Given the description of an element on the screen output the (x, y) to click on. 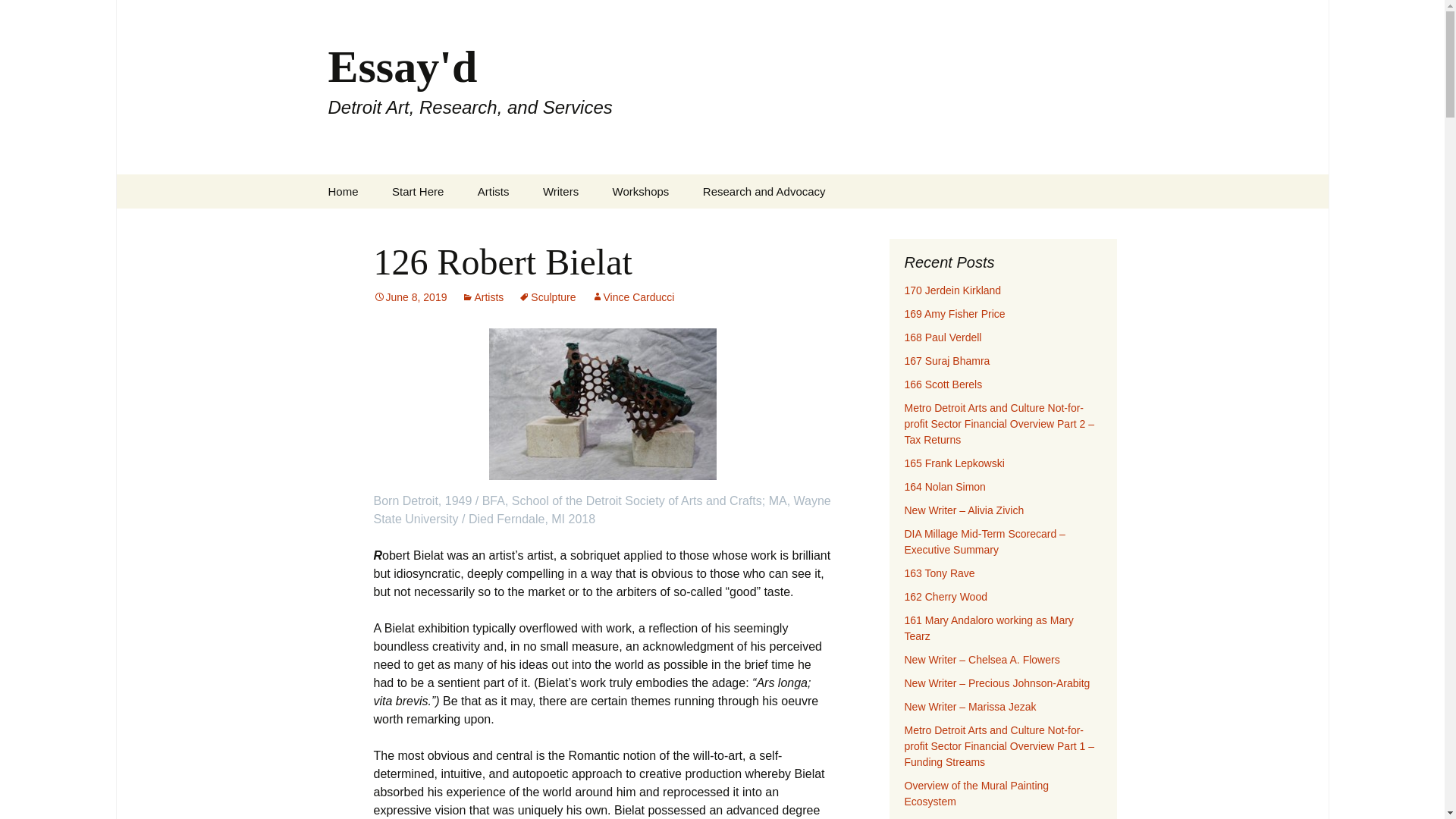
Workshops (640, 191)
Sculpture (546, 297)
Artists (493, 191)
Start Here (417, 191)
Permalink to 126 Robert Bielat (409, 297)
Writers (409, 297)
Vince Carducci (560, 191)
Search (633, 297)
Artists (18, 15)
Research and Advocacy (482, 297)
Upcoming Workshops (764, 191)
Skip to content (672, 225)
